Given the description of an element on the screen output the (x, y) to click on. 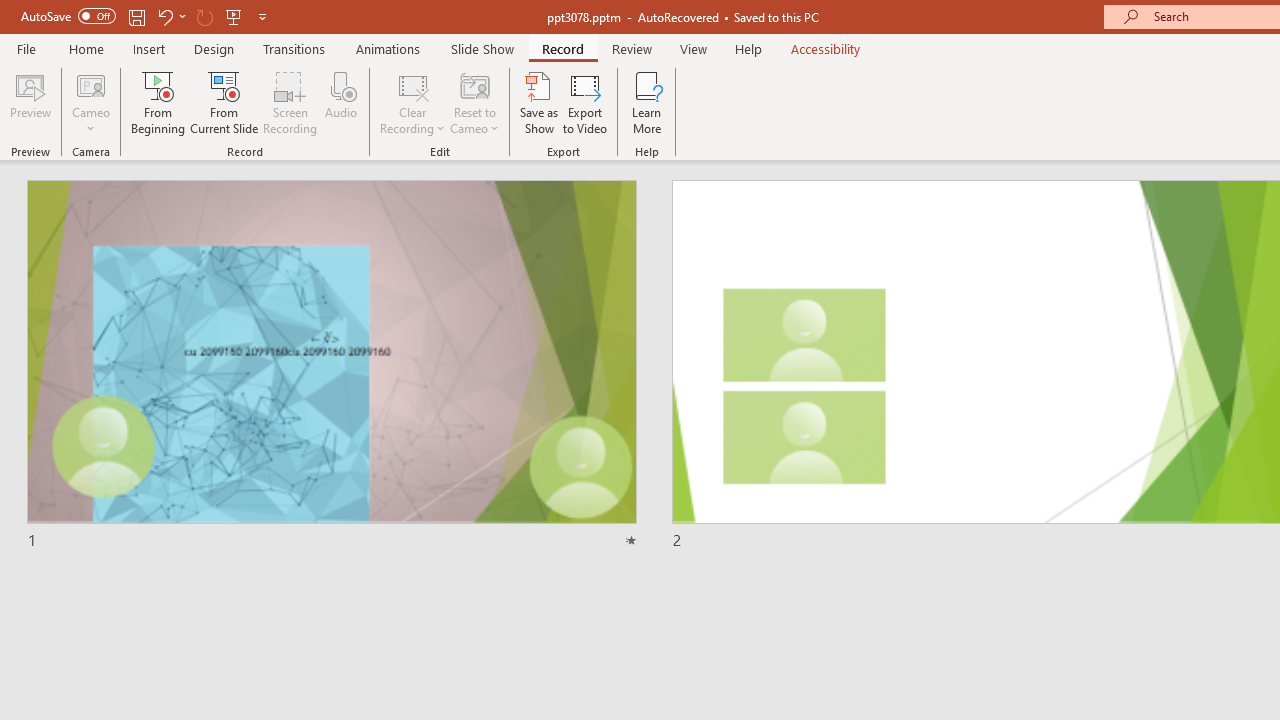
Learn More (646, 102)
Export to Video (585, 102)
Cameo (91, 102)
Audio (341, 102)
